Given the description of an element on the screen output the (x, y) to click on. 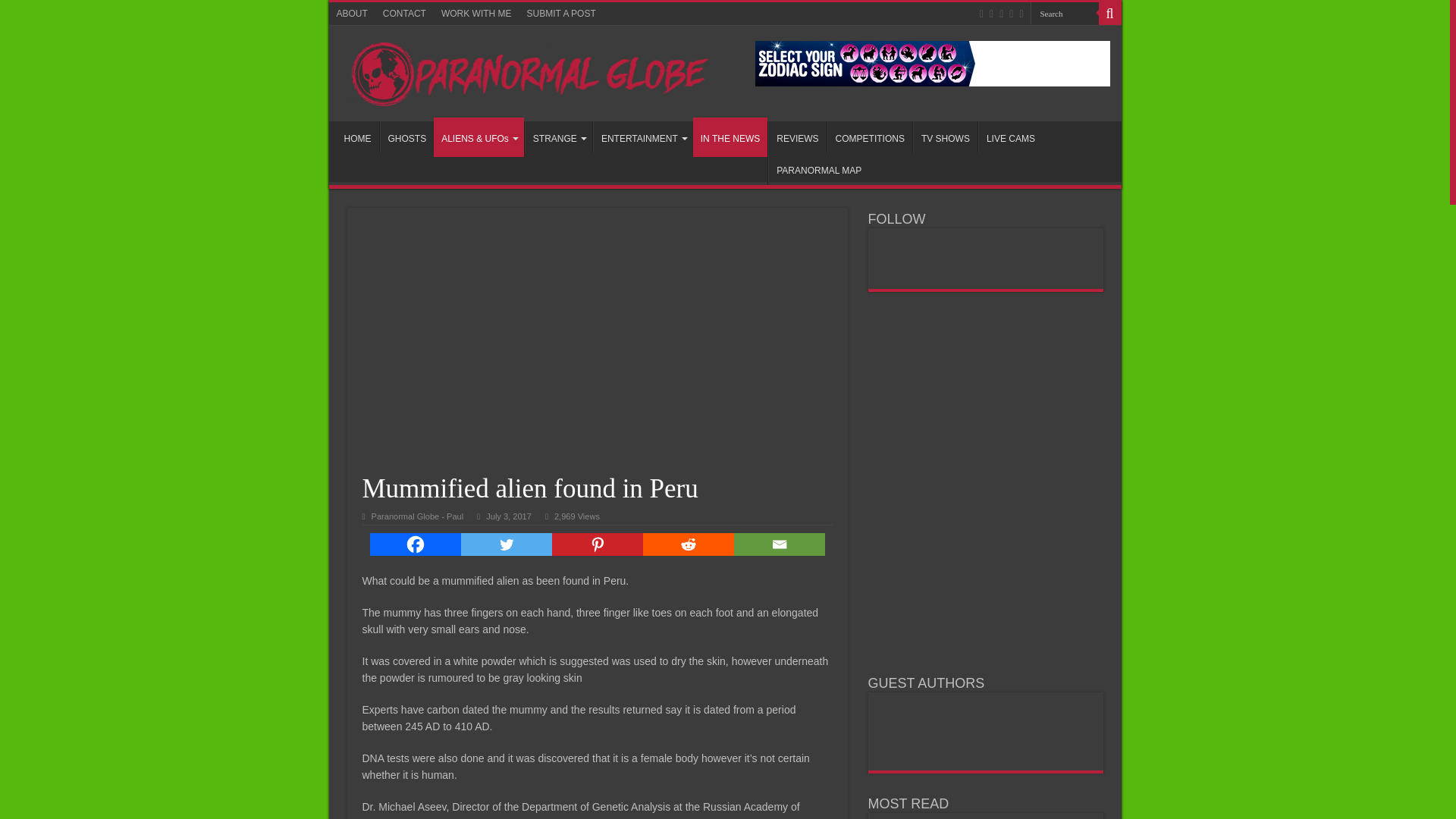
Search (1063, 13)
Search (1063, 13)
TV SHOWS (944, 137)
REVIEWS (796, 137)
STRANGE (558, 137)
COMPETITIONS (869, 137)
GHOSTS (405, 137)
CONTACT (404, 13)
ENTERTAINMENT (642, 137)
ABOUT (352, 13)
LIVE CAMS (1010, 137)
WORK WITH ME (476, 13)
HOME (357, 137)
PARANORMAL MAP (818, 169)
SUBMIT A POST (561, 13)
